Given the description of an element on the screen output the (x, y) to click on. 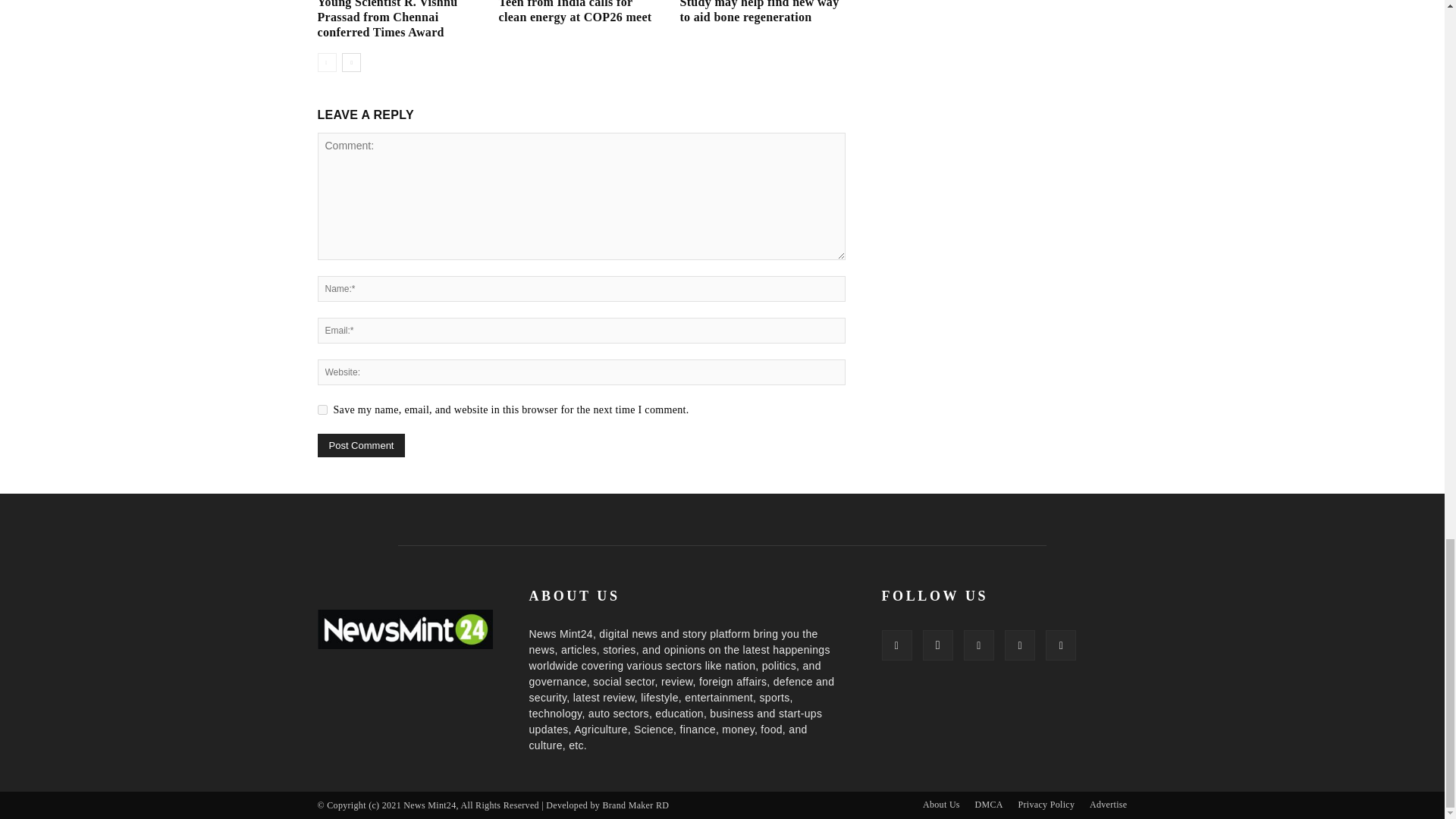
yes (321, 409)
Post Comment (360, 445)
